Given the description of an element on the screen output the (x, y) to click on. 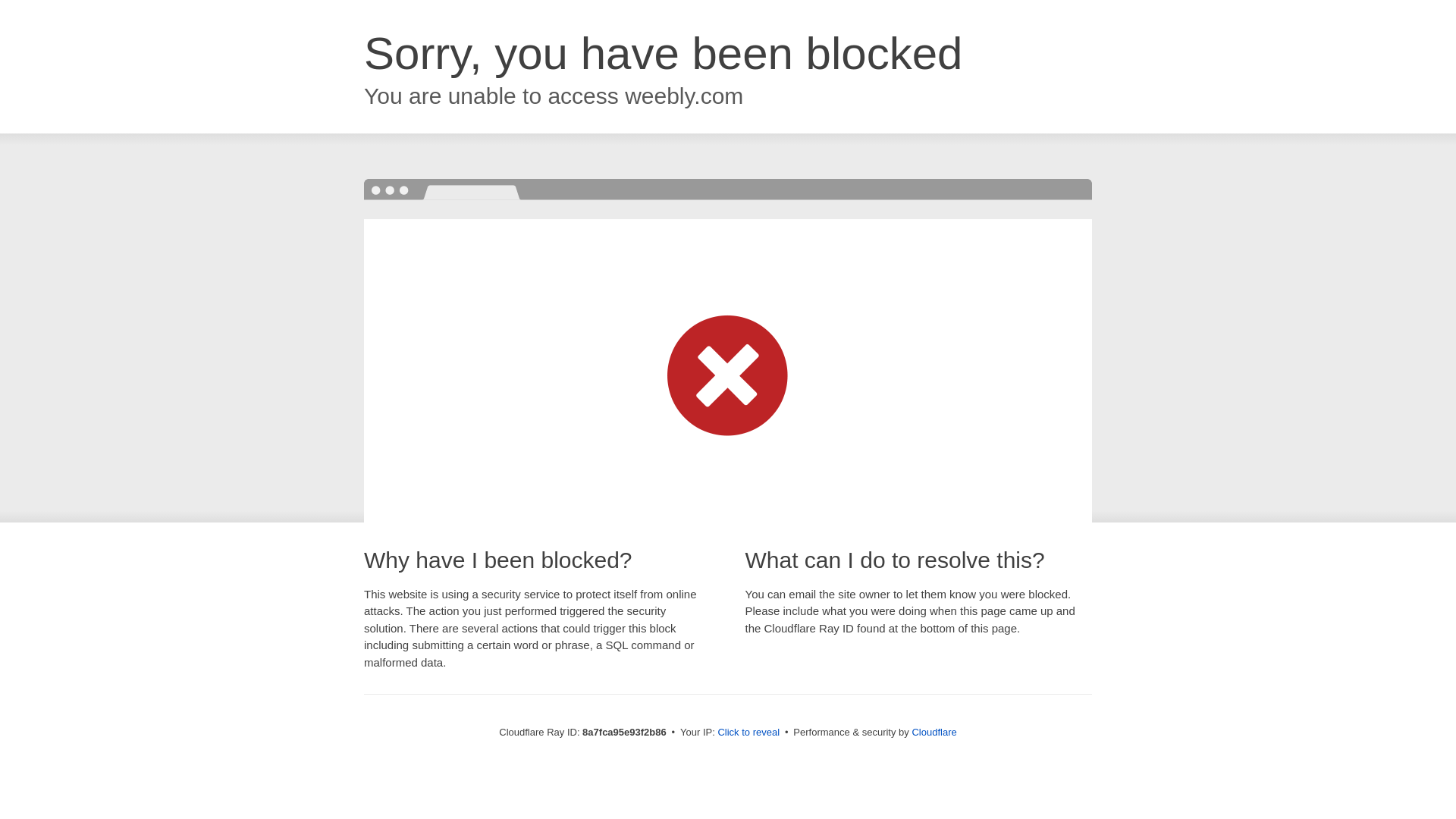
Click to reveal (747, 732)
Cloudflare (933, 731)
